Given the description of an element on the screen output the (x, y) to click on. 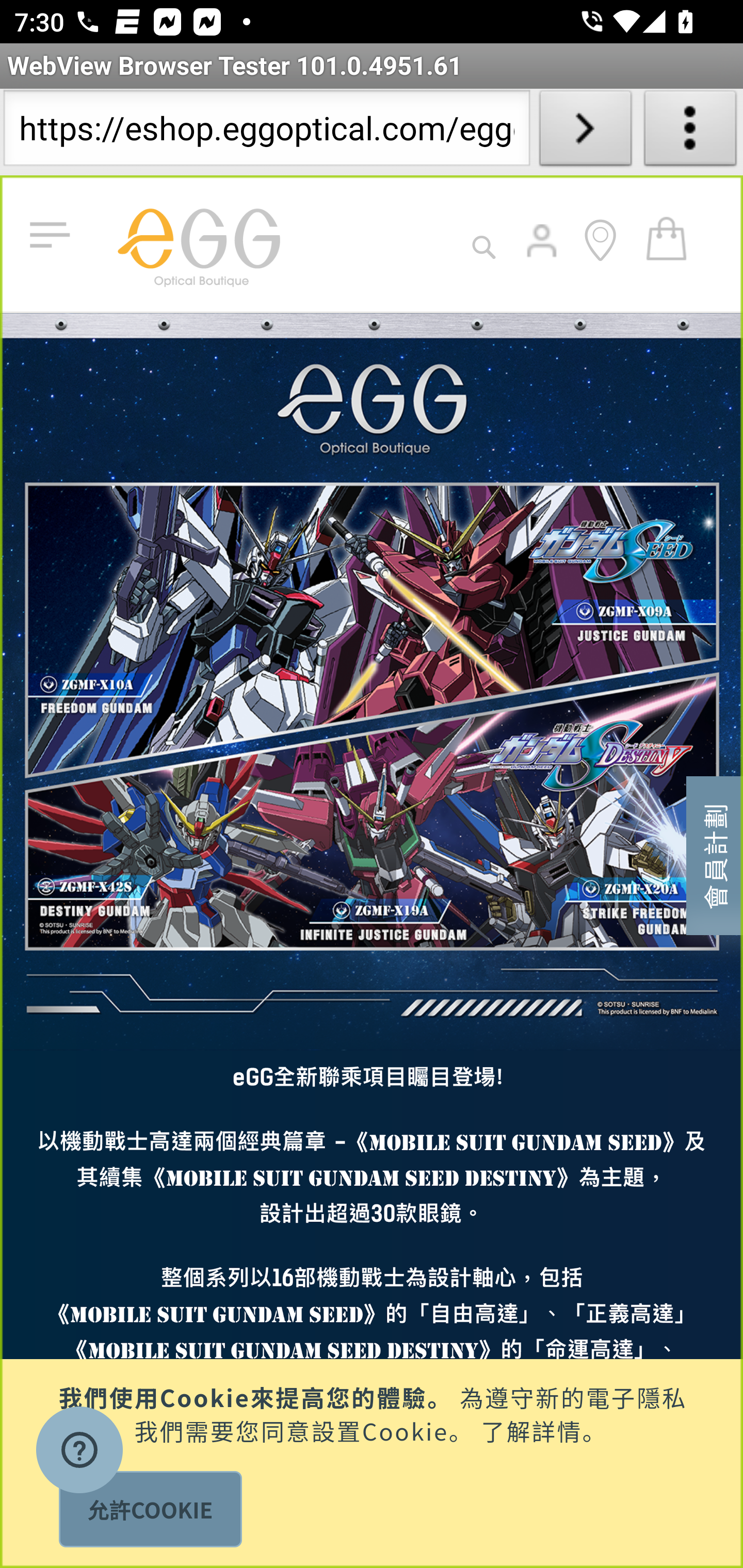
Load URL (585, 132)
About WebView (690, 132)
store logo eGG 網上商店 (198, 243)
切換導航 (54, 235)
我的購物車 (666, 237)
login (543, 254)
會員計劃 (714, 854)
Opens a widget where you can find more information (79, 1452)
了解詳情 (531, 1429)
允許COOKIE (149, 1509)
